Given the description of an element on the screen output the (x, y) to click on. 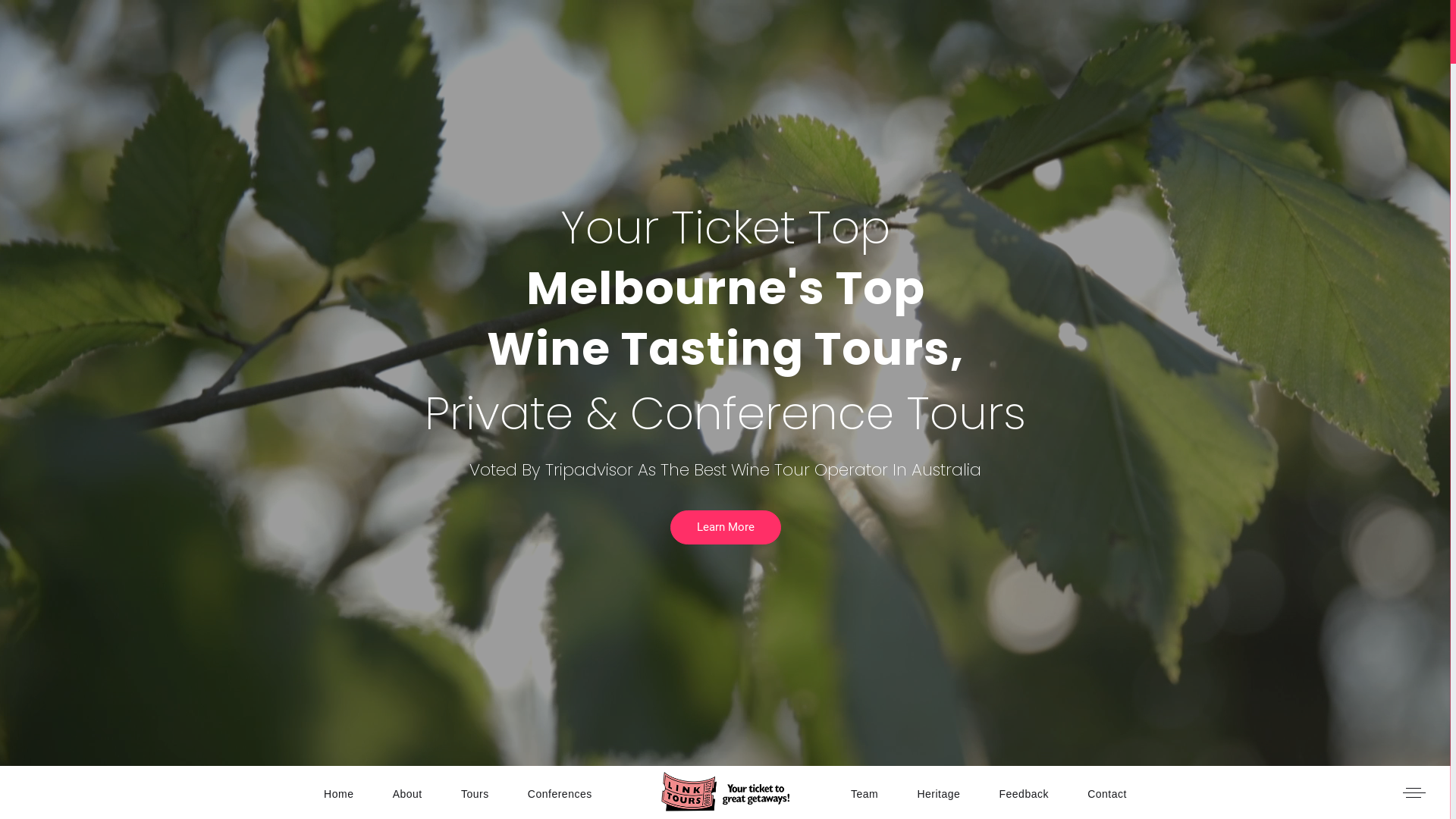
Contact Element type: text (1106, 792)
Conferences Element type: text (559, 792)
Heritage Element type: text (938, 792)
Learn More Element type: text (725, 527)
Feedback Element type: text (1023, 792)
Logo Element type: hover (725, 790)
Team Element type: text (864, 792)
About Element type: text (407, 792)
Tours Element type: text (475, 792)
Home Element type: text (338, 792)
